Given the description of an element on the screen output the (x, y) to click on. 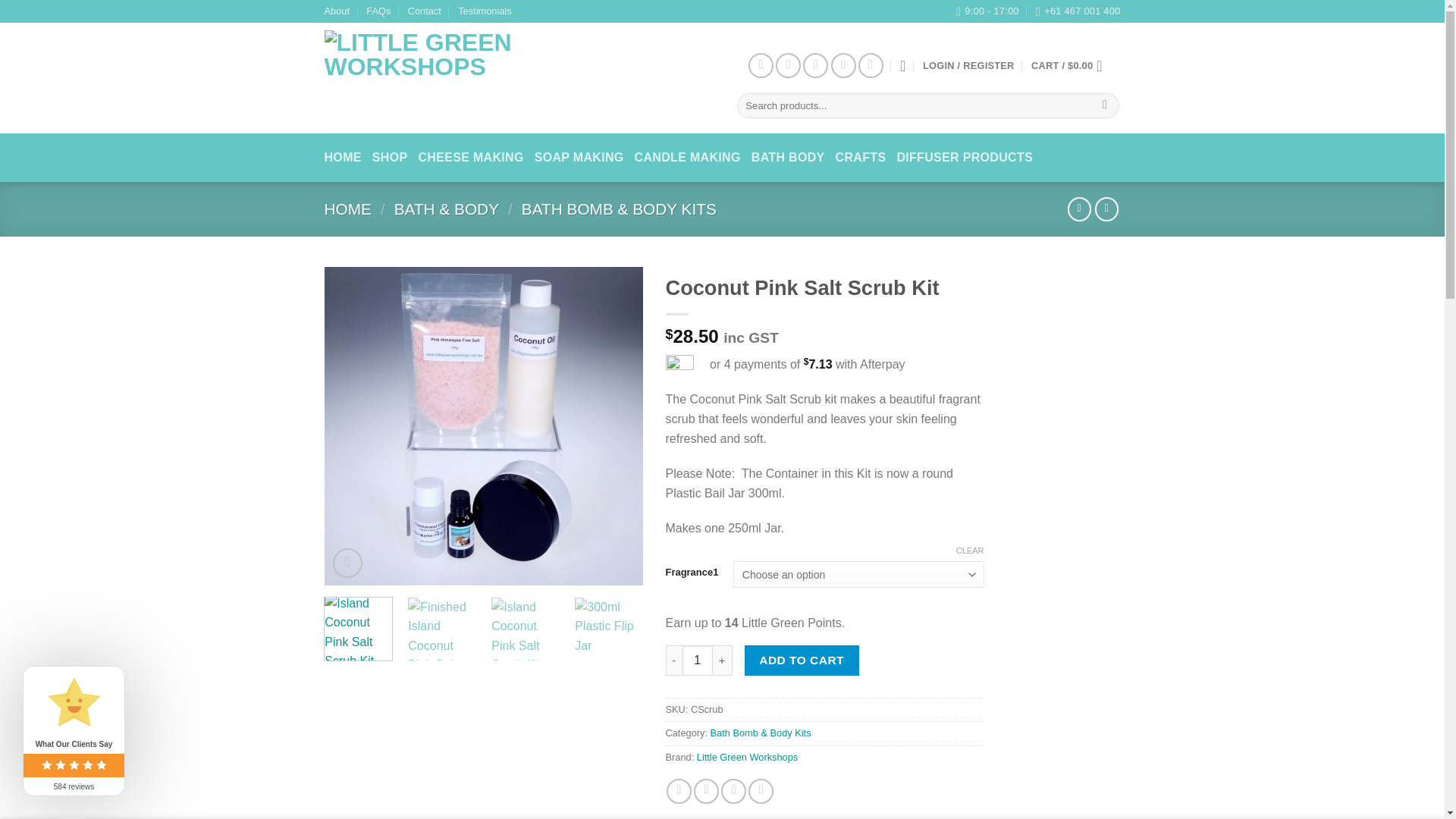
DIFFUSER PRODUCTS (964, 157)
Cart (1071, 65)
Follow on X (815, 65)
Little Green Workshops (485, 78)
1 (697, 660)
Search (1105, 105)
Follow on YouTube (871, 65)
FAQs (378, 11)
Follow on Facebook (760, 65)
CANDLE MAKING (687, 157)
Follow on Pinterest (843, 65)
SOAP MAKING (579, 157)
9:00 - 17:00 (986, 11)
Login (968, 65)
BATH BODY (788, 157)
